Given the description of an element on the screen output the (x, y) to click on. 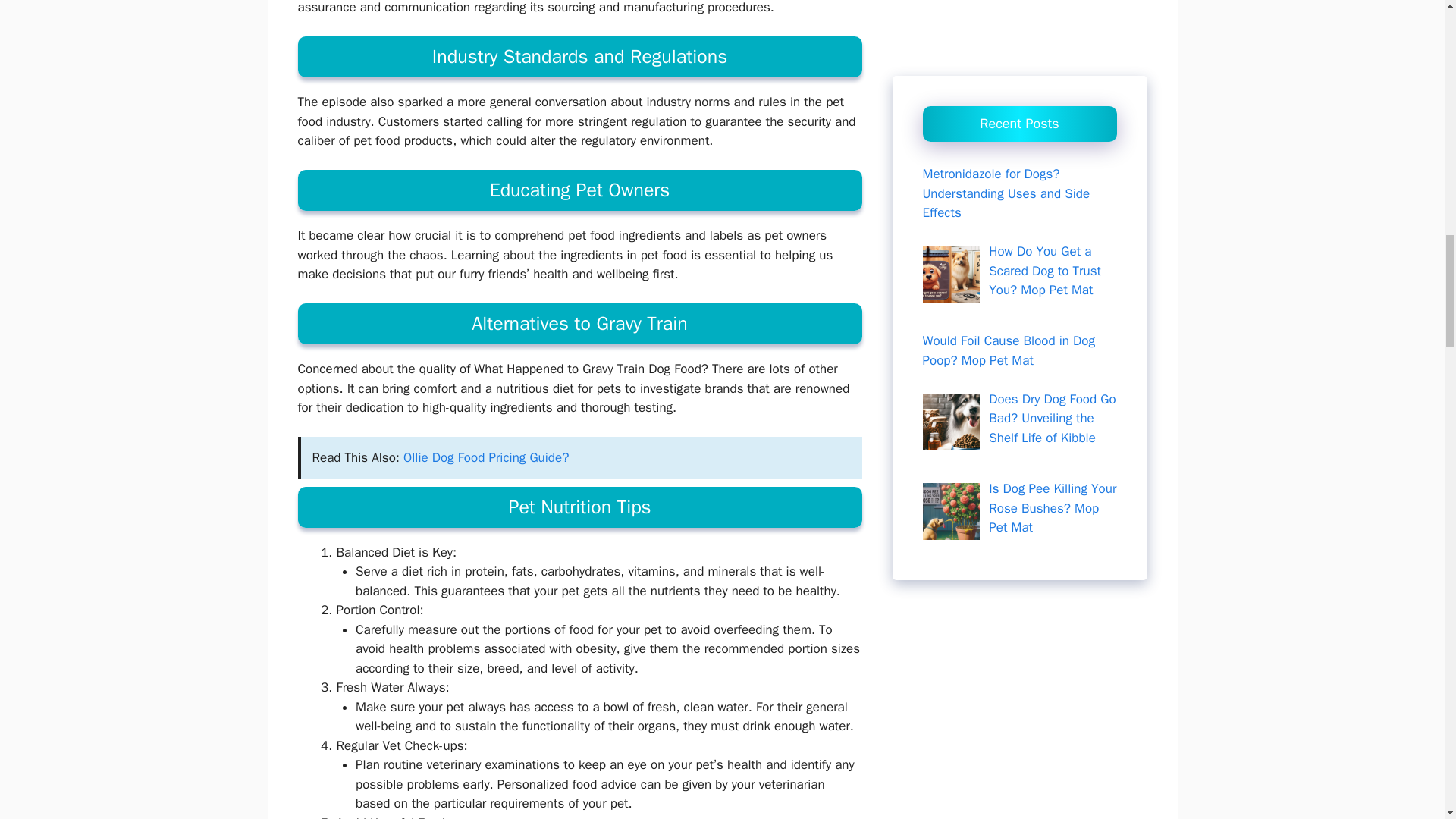
Ollie Dog Food Pricing Guide? (486, 457)
